Given the description of an element on the screen output the (x, y) to click on. 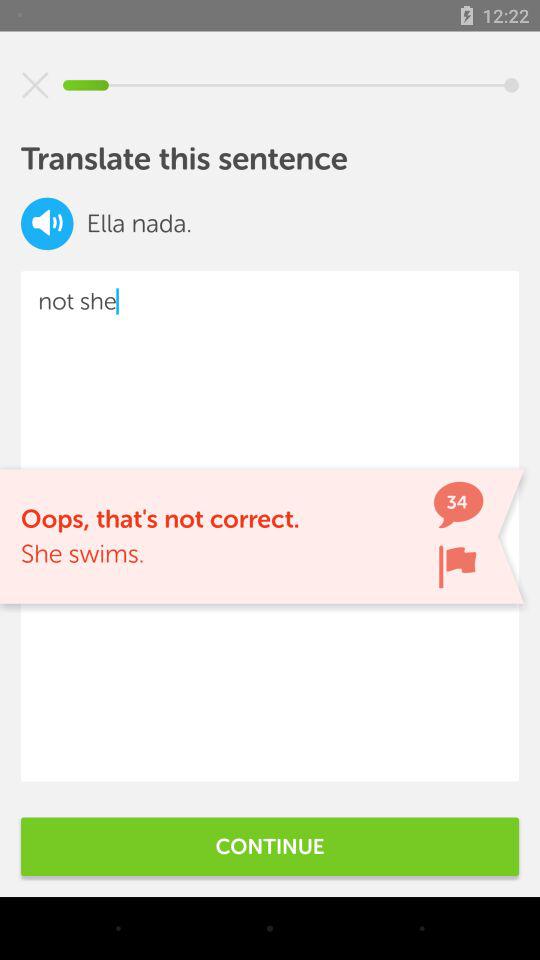
tap icon next to the oops that s (457, 566)
